Given the description of an element on the screen output the (x, y) to click on. 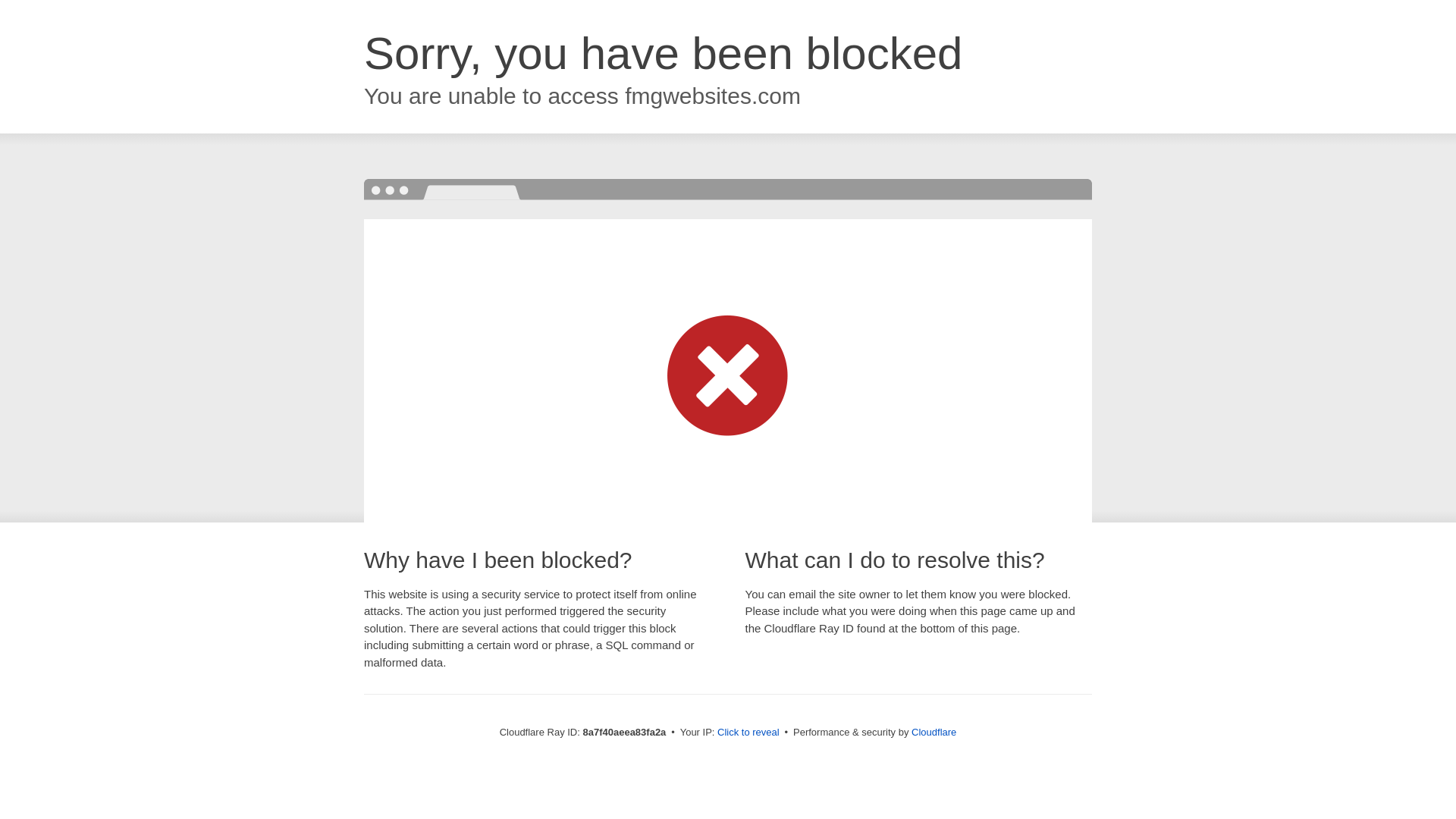
Cloudflare (933, 731)
Click to reveal (747, 732)
